Given the description of an element on the screen output the (x, y) to click on. 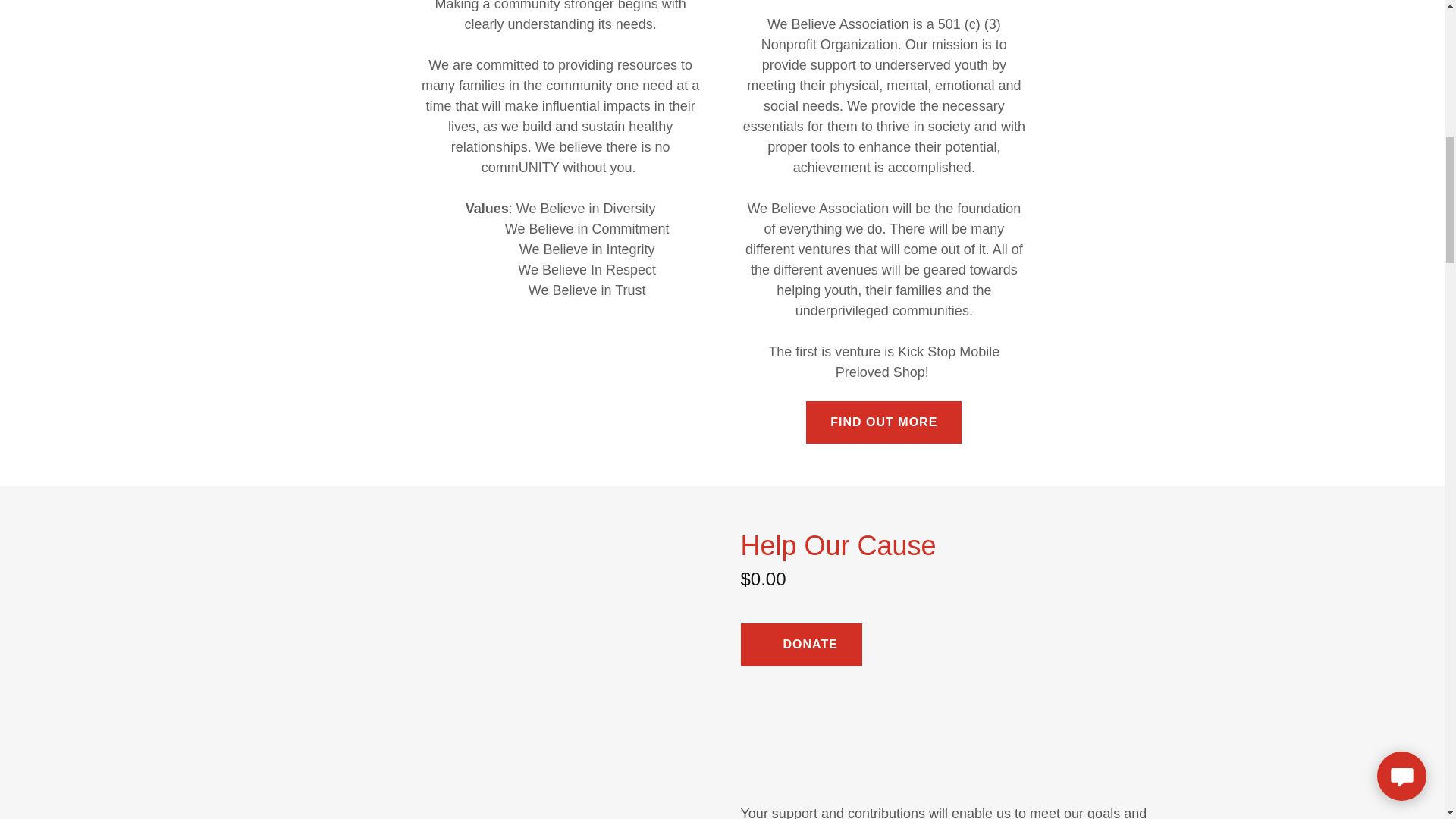
DONATE (800, 644)
FIND OUT MORE (883, 422)
